Given the description of an element on the screen output the (x, y) to click on. 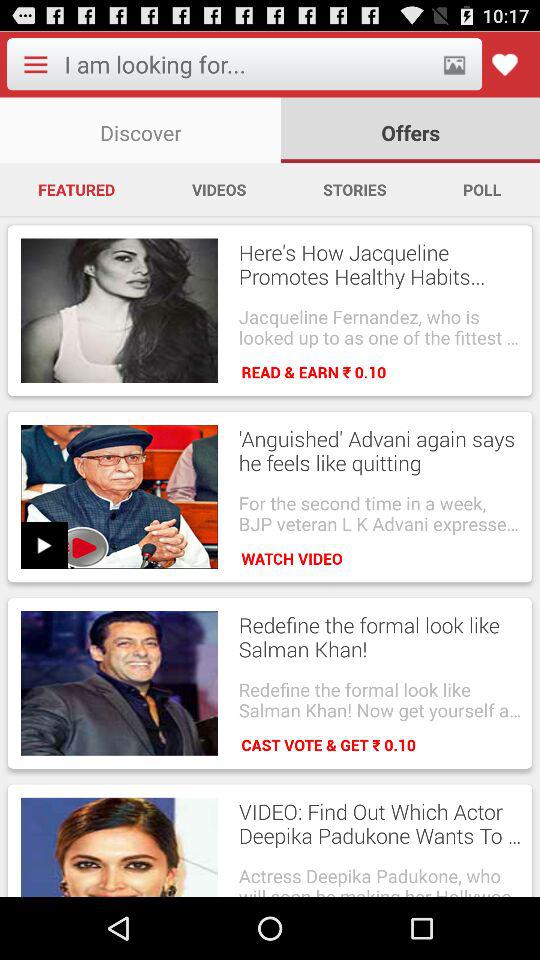
shows heart symbol (504, 64)
